Given the description of an element on the screen output the (x, y) to click on. 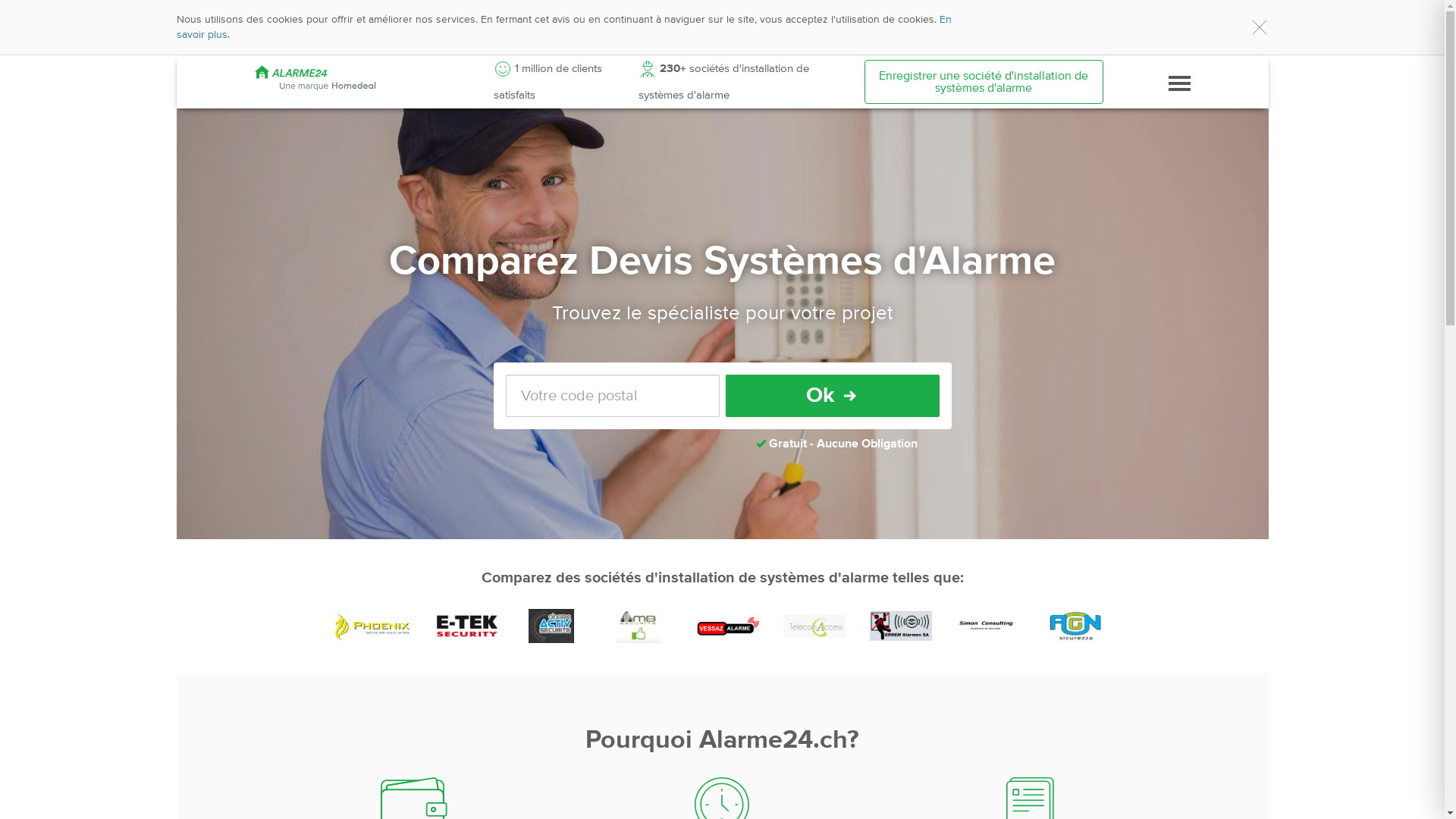
Fermer Element type: hover (1258, 27)
Ok Element type: text (831, 395)
En savoir plus Element type: text (562, 27)
